Given the description of an element on the screen output the (x, y) to click on. 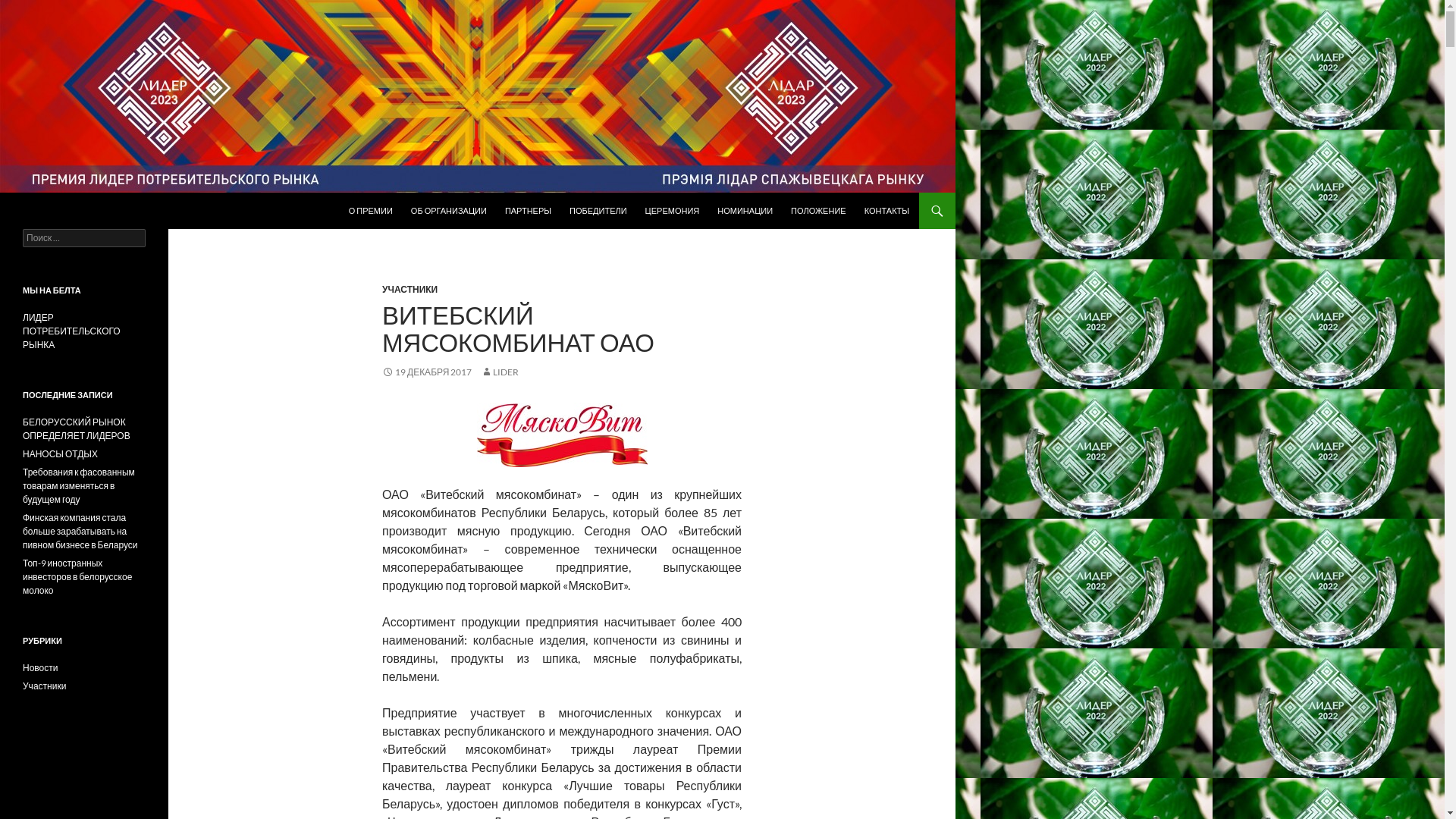
LIDER Element type: text (499, 371)
